Given the description of an element on the screen output the (x, y) to click on. 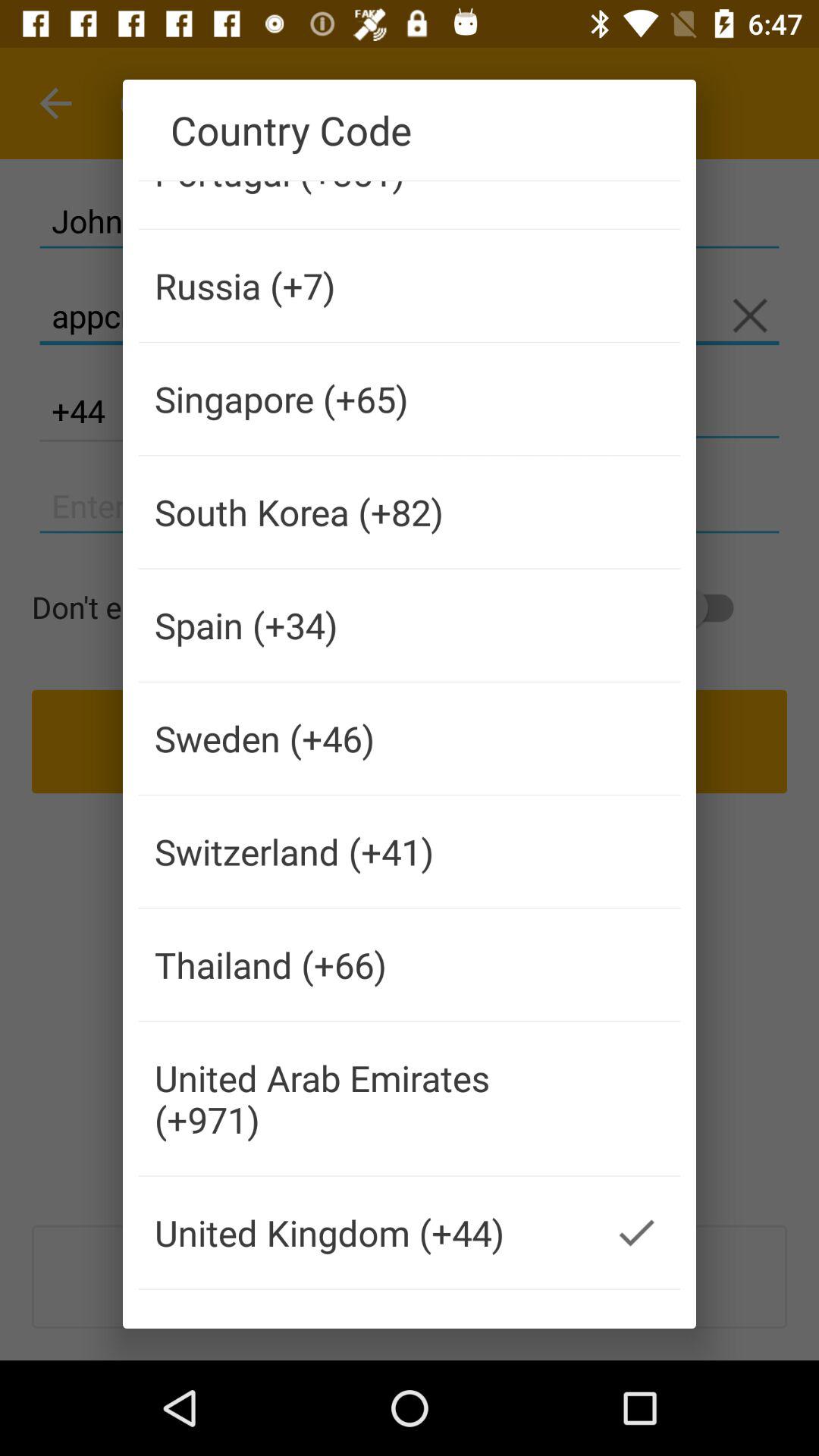
tap russia (+7) item (365, 285)
